Given the description of an element on the screen output the (x, y) to click on. 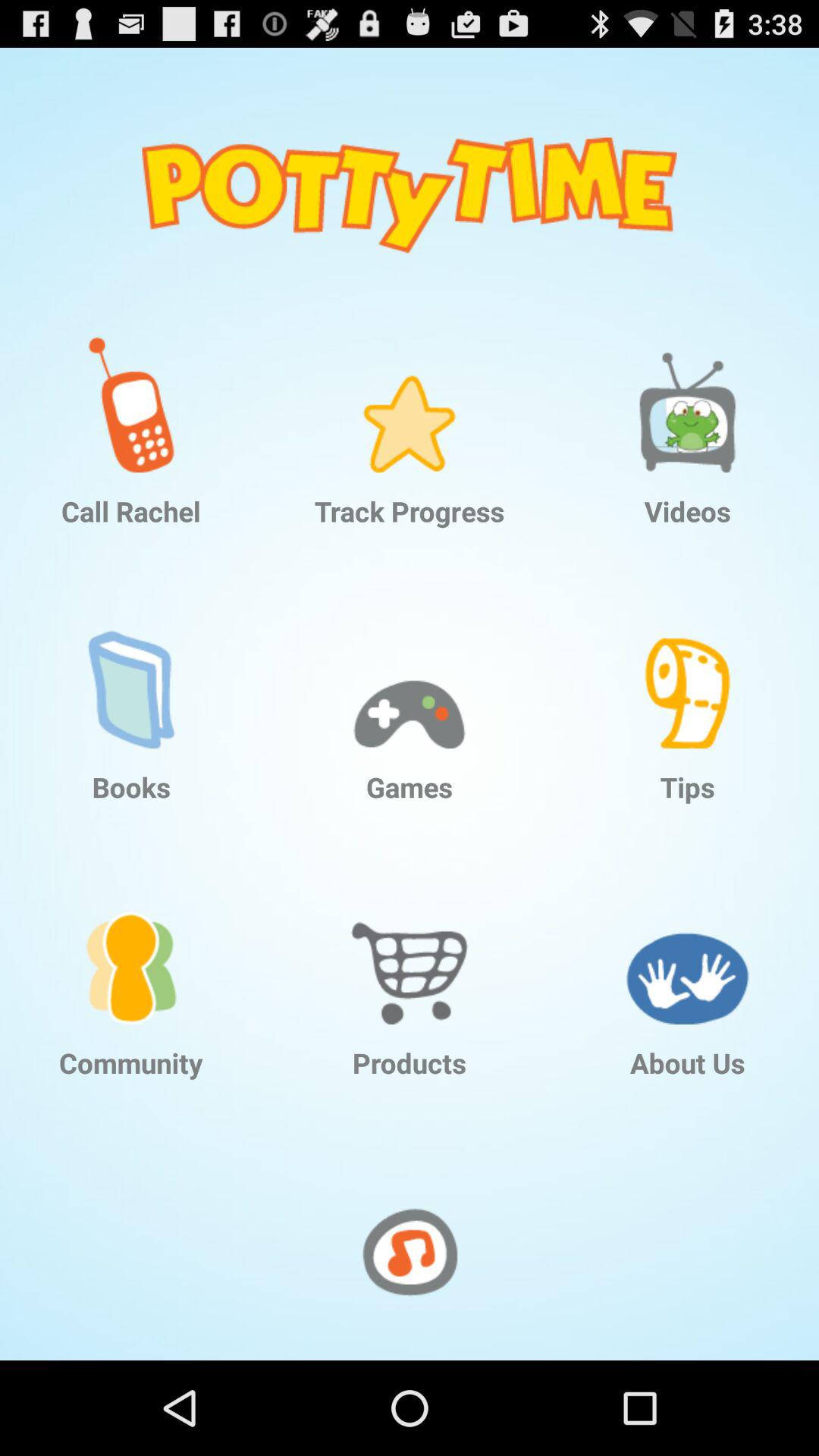
open the item below the books (131, 944)
